Given the description of an element on the screen output the (x, y) to click on. 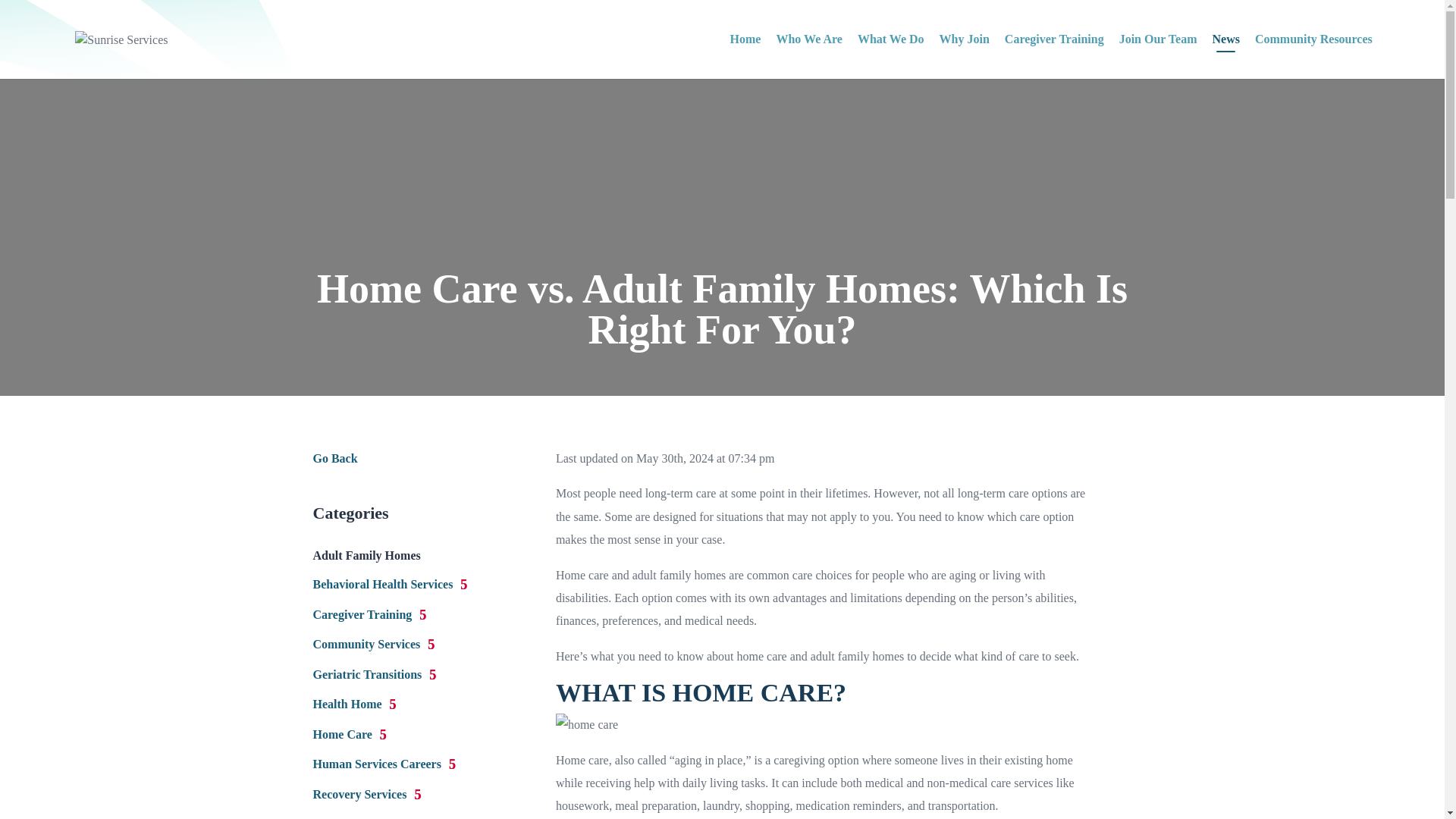
Home Care (349, 734)
Caregiver Training (369, 614)
Join Our Team (1157, 56)
Go Back (334, 458)
Caregiver Training (1053, 56)
Behavioral Health Services (390, 584)
Who We Are (808, 56)
Recovery Services (366, 793)
Geriatric Transitions (374, 674)
Adult Family Homes (366, 554)
Community Services (373, 644)
Sunrise Services (362, 818)
Home care (582, 759)
What We Do (890, 56)
adult family homes (678, 574)
